Given the description of an element on the screen output the (x, y) to click on. 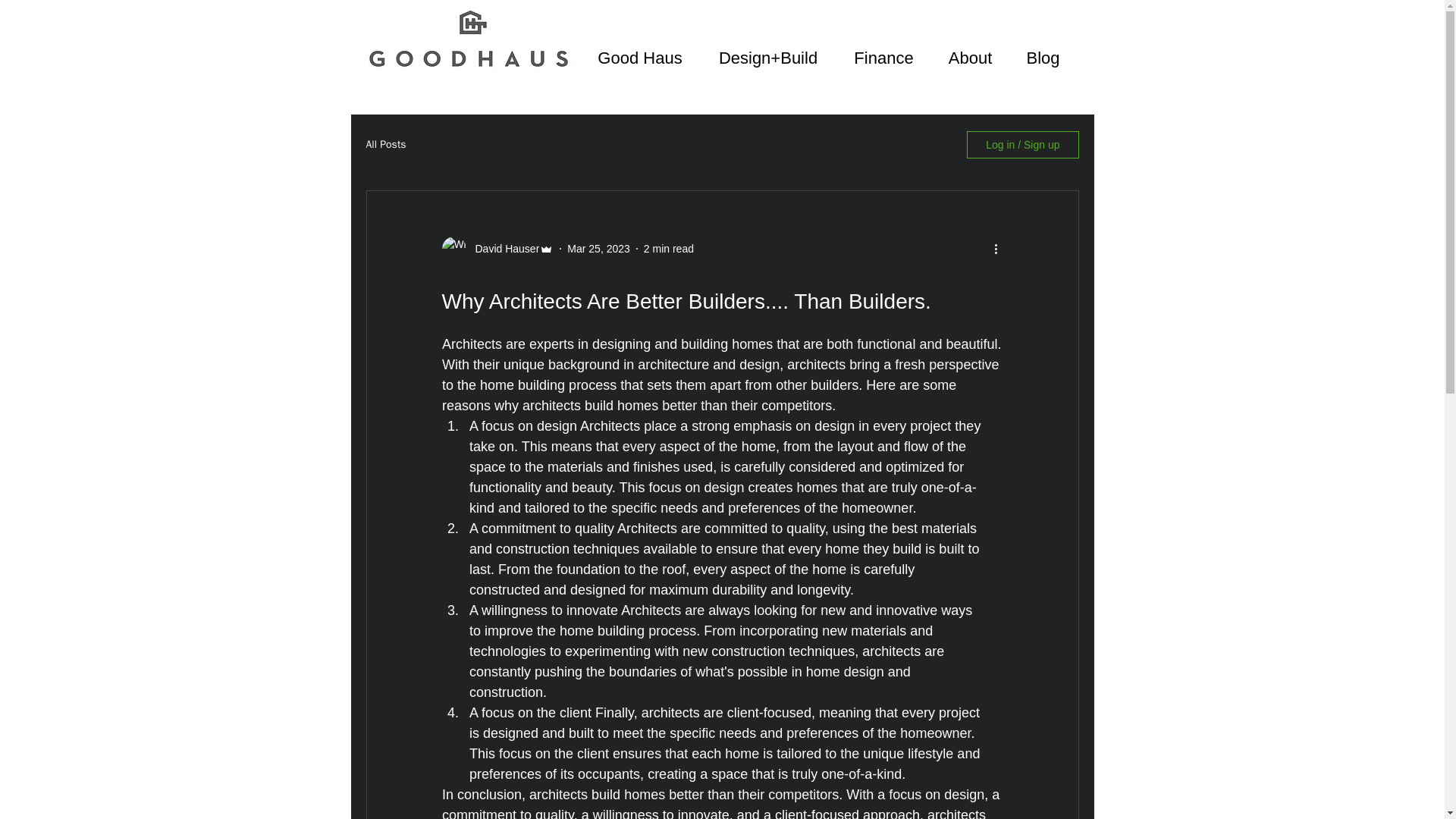
David Hauser (501, 248)
2 min read (668, 248)
Finance (884, 57)
Blog (1043, 57)
Mar 25, 2023 (598, 248)
Good Haus (640, 57)
All Posts (385, 144)
About (970, 57)
